Given the description of an element on the screen output the (x, y) to click on. 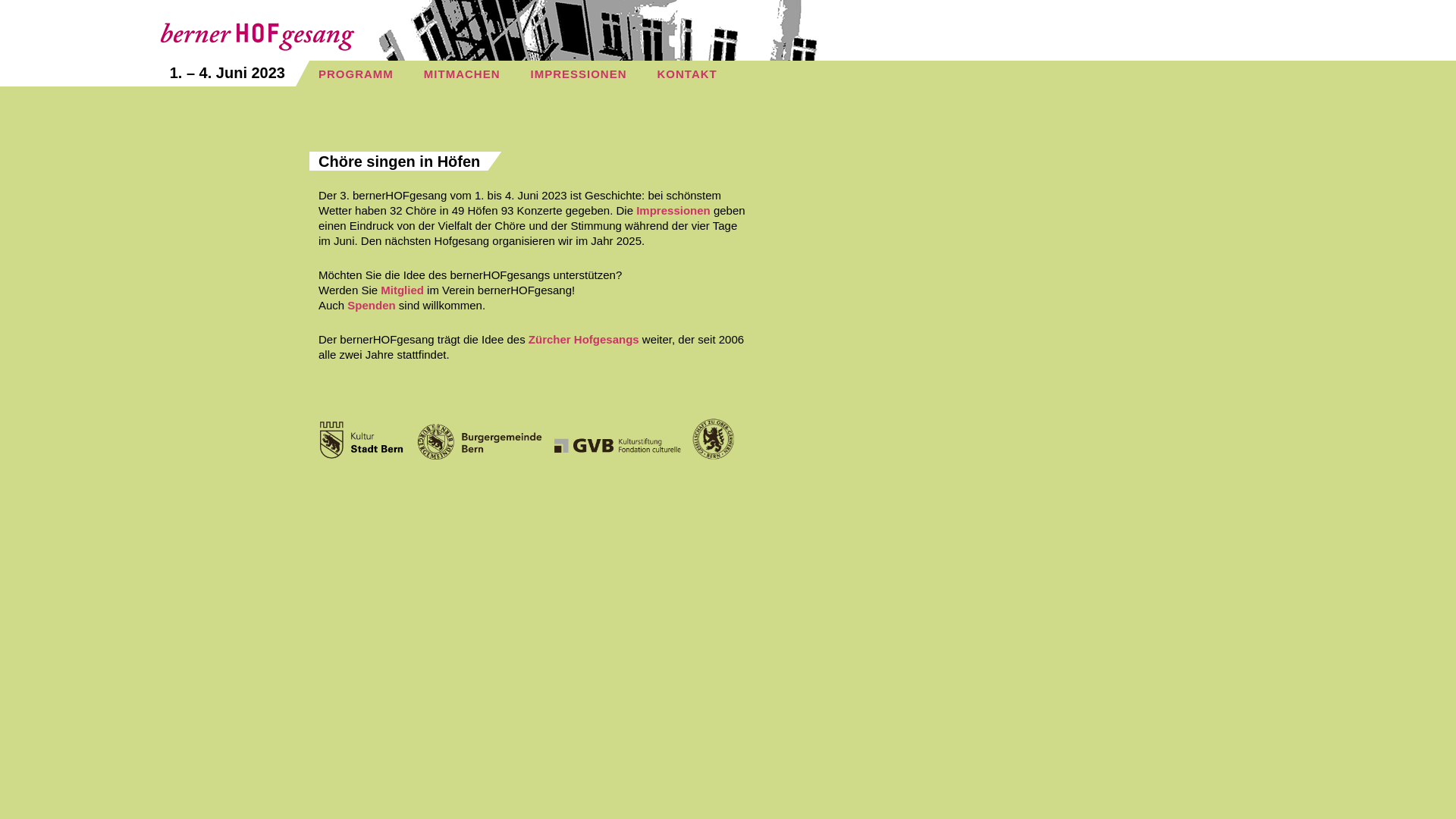
KONTAKT Element type: text (687, 73)
Spenden Element type: text (371, 304)
Mitglied Element type: text (401, 289)
Impressionen Element type: text (673, 209)
MITMACHEN Element type: text (461, 73)
PROGRAMM Element type: text (355, 73)
IMPRESSIONEN Element type: text (578, 73)
